Given the description of an element on the screen output the (x, y) to click on. 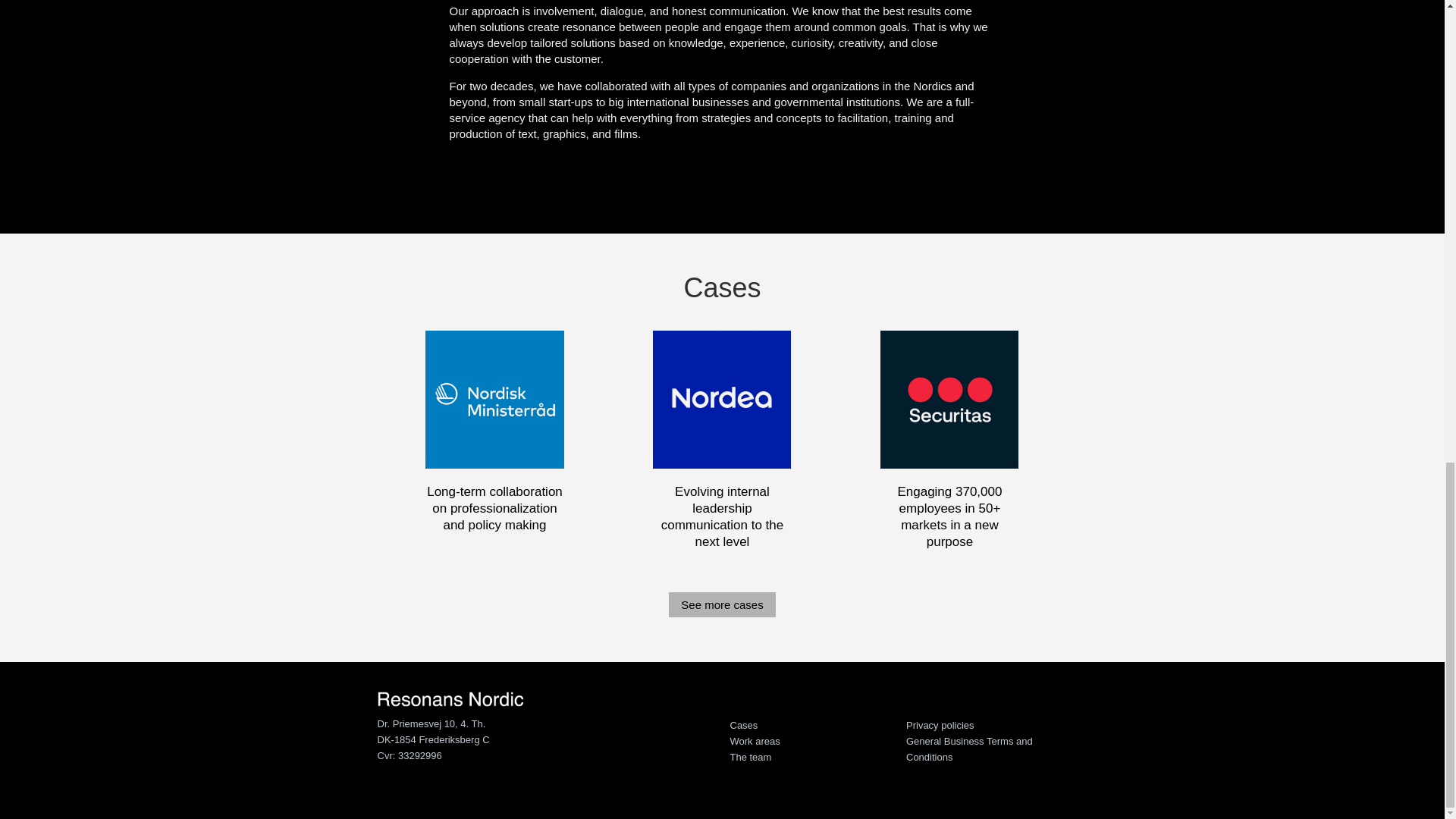
Cases (743, 725)
Privacy policies (939, 725)
The team (750, 756)
General Business Terms and Conditions (968, 748)
See more cases (721, 604)
Evolving internal leadership communication to the next level (722, 516)
Work areas (753, 740)
